Given the description of an element on the screen output the (x, y) to click on. 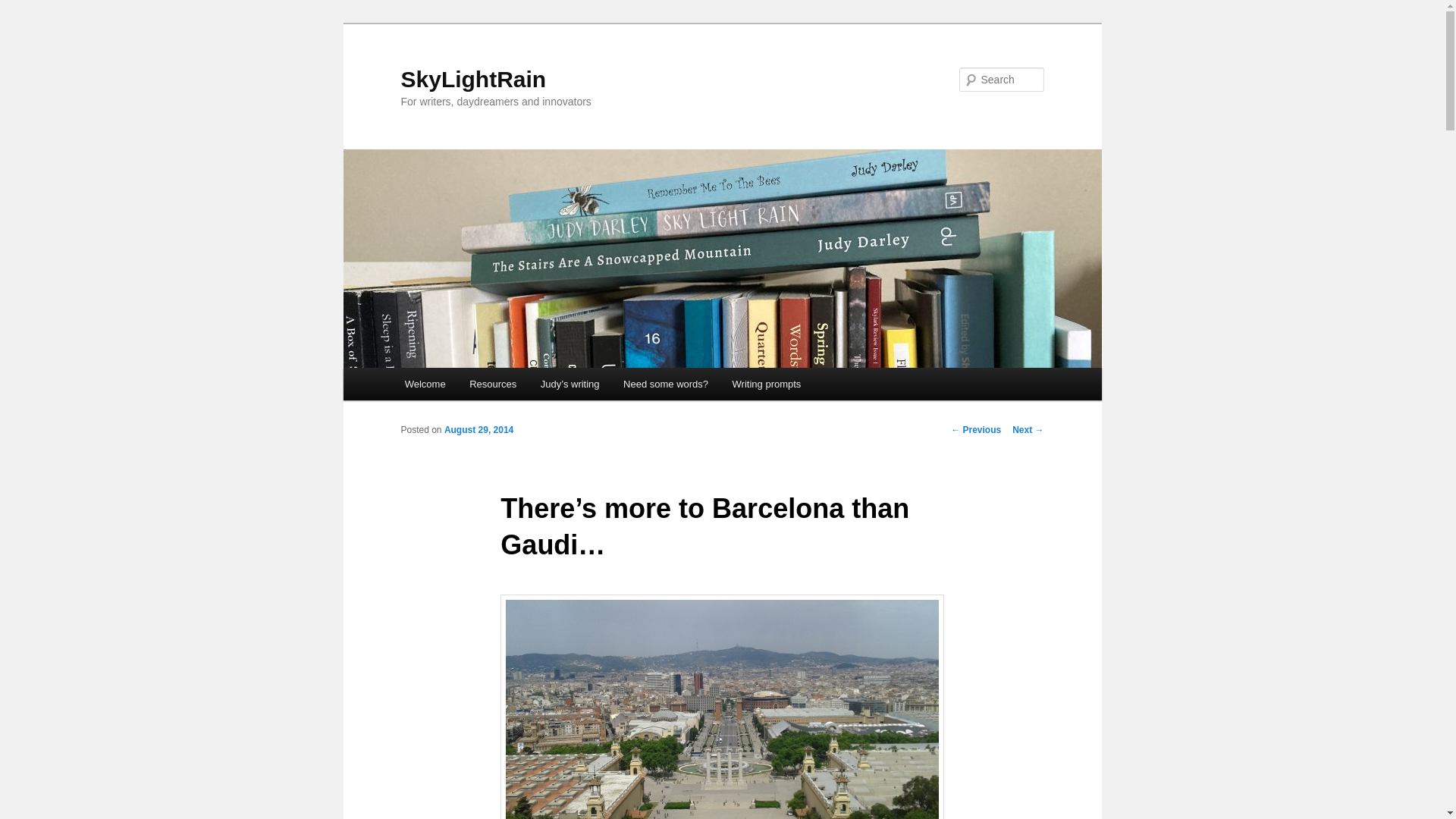
Resources (492, 383)
SkyLightRain (473, 78)
Welcome (425, 383)
Search (24, 8)
August 29, 2014 (478, 429)
Writing prompts (766, 383)
Need some words? (665, 383)
